Given the description of an element on the screen output the (x, y) to click on. 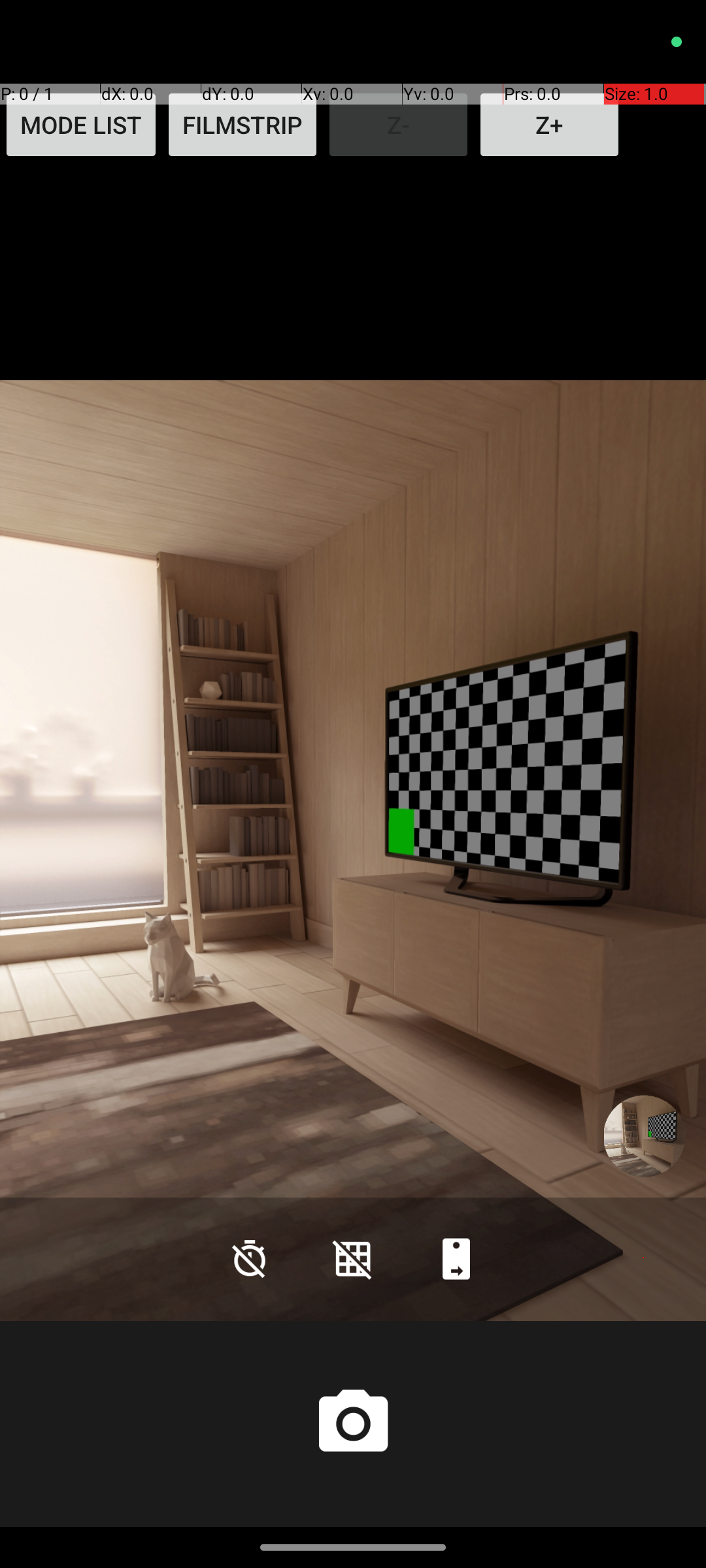
Shutter Element type: android.widget.ImageView (353, 1423)
MODE LIST Element type: android.widget.Button (81, 124)
FILMSTRIP Element type: android.widget.Button (242, 124)
Z- Element type: android.widget.Button (397, 124)
Z+ Element type: android.widget.Button (548, 124)
Countdown timer is off Element type: android.widget.ImageButton (249, 1258)
Grid lines off Element type: android.widget.ImageButton (352, 1258)
Back camera Element type: android.widget.ImageButton (456, 1258)
